Given the description of an element on the screen output the (x, y) to click on. 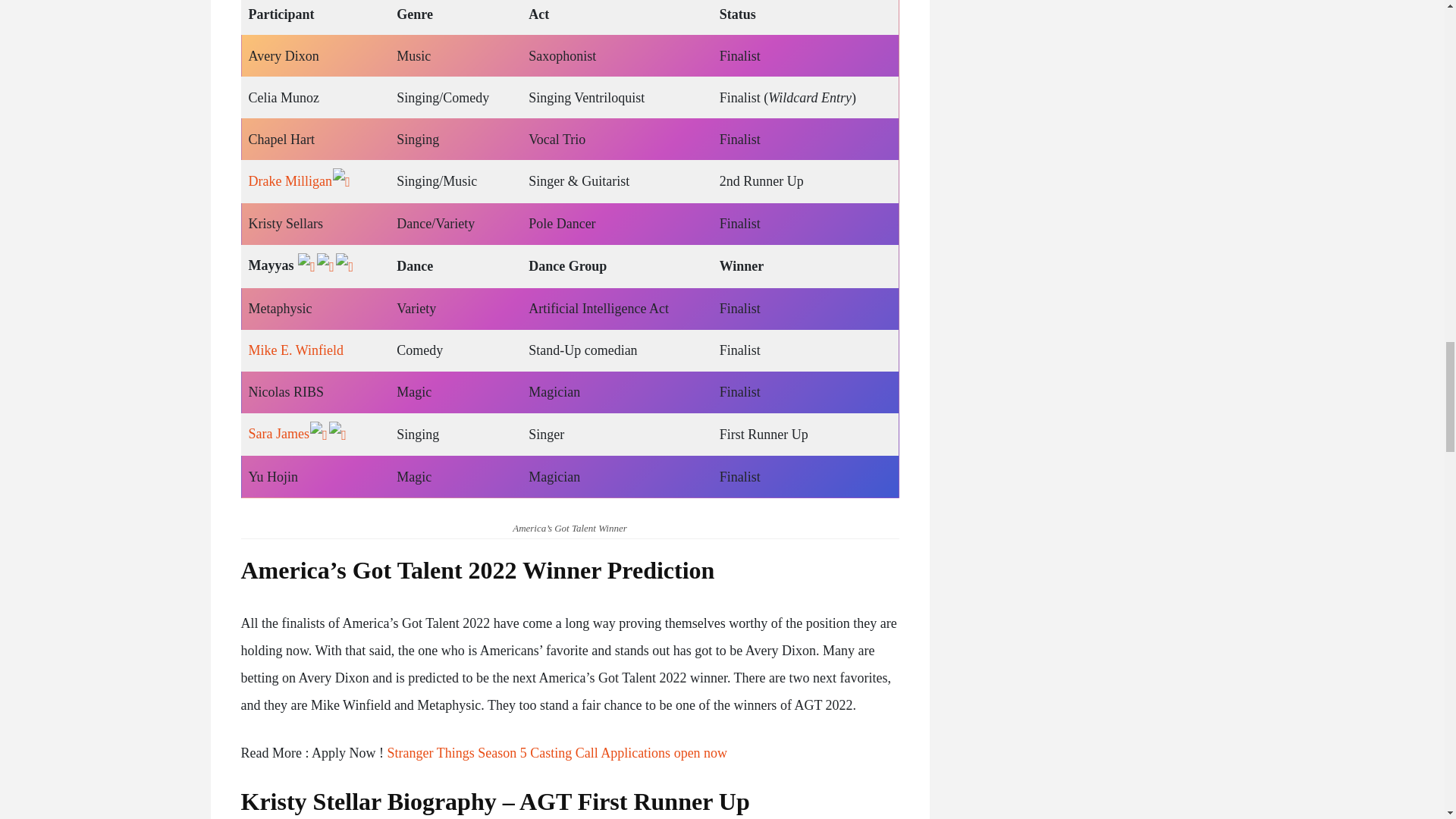
Mike E. Winfield (295, 350)
Drake Milligan (289, 180)
Sara James (278, 433)
Stranger Things Season 5 Casting Call Applications open now (556, 752)
